Given the description of an element on the screen output the (x, y) to click on. 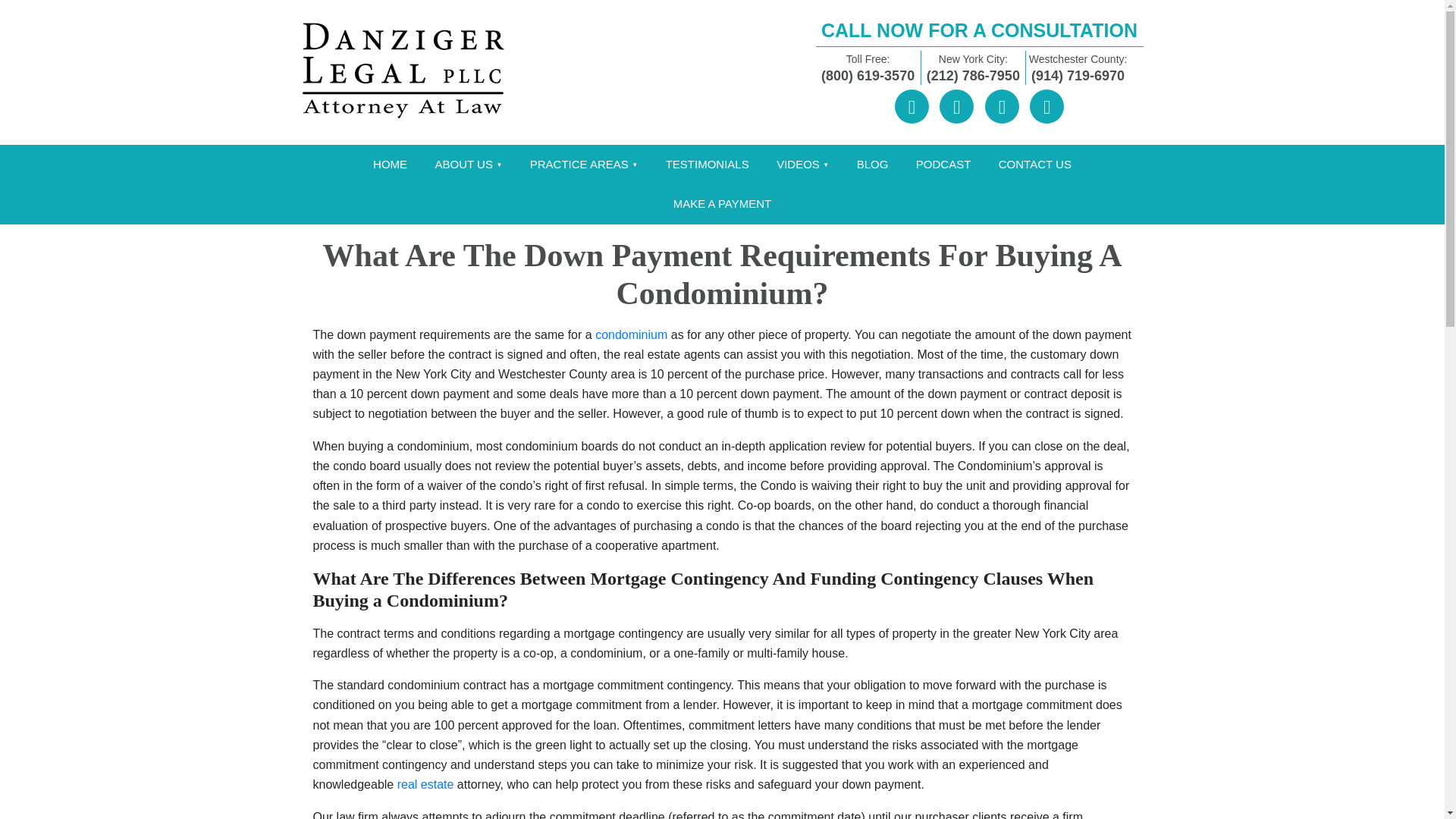
TESTIMONIALS (707, 164)
HOME (390, 164)
BLOG (872, 164)
ABOUT US (469, 164)
PODCAST (944, 164)
VIDEOS (802, 164)
PRACTICE AREAS (583, 164)
